Given the description of an element on the screen output the (x, y) to click on. 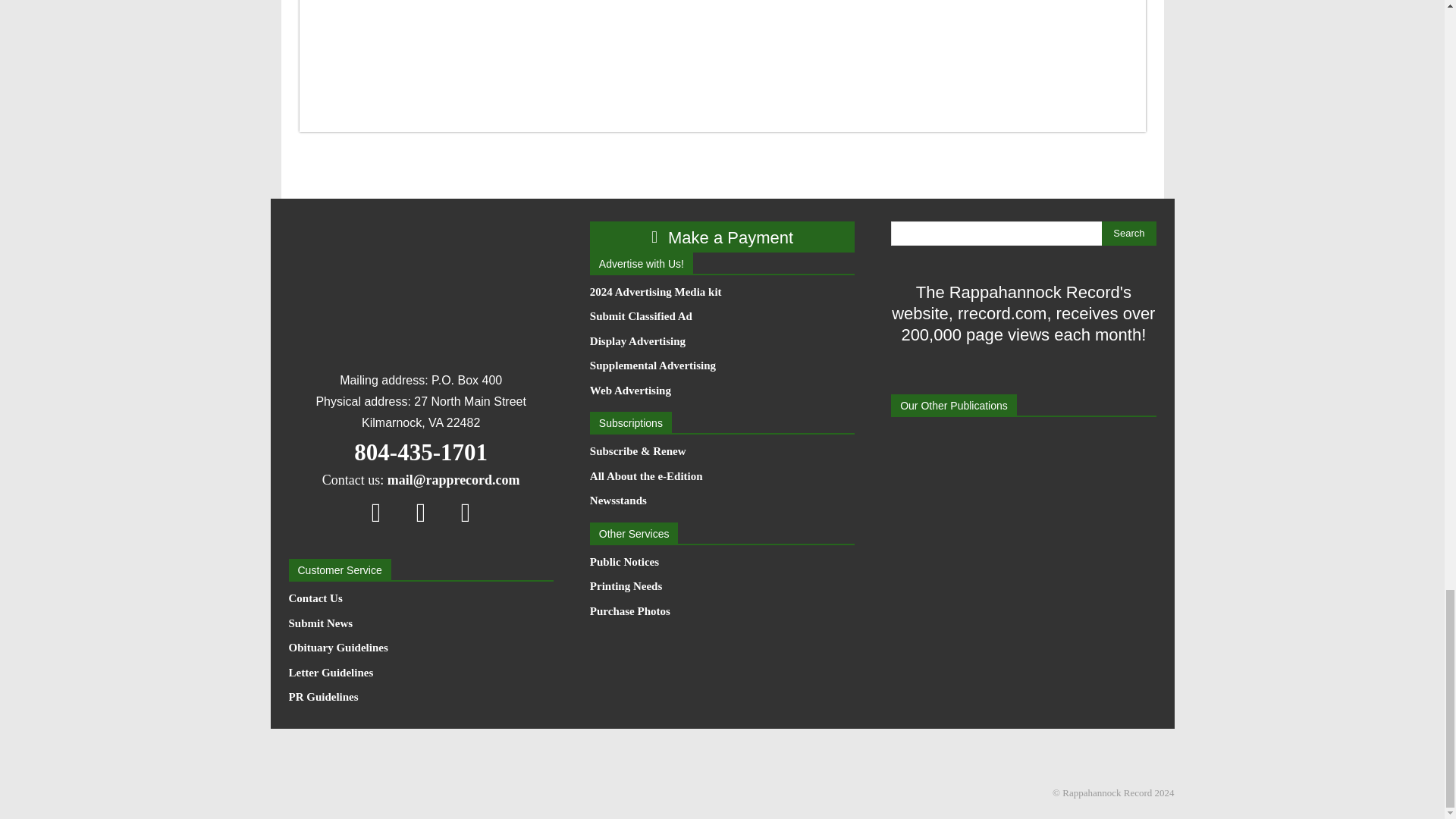
Twitter (465, 511)
Make a Payment (721, 236)
Facebook (376, 511)
Instagram (421, 511)
